Given the description of an element on the screen output the (x, y) to click on. 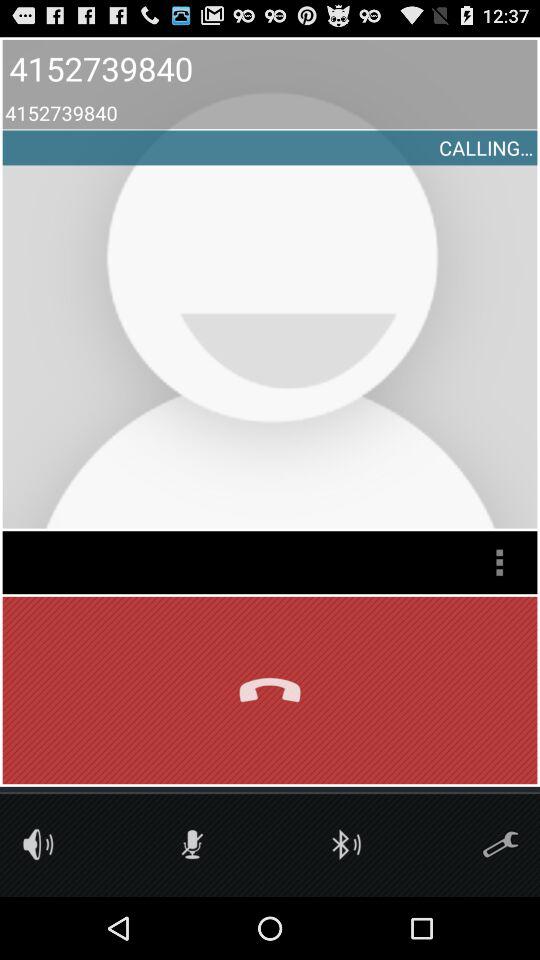
toggle mute (192, 844)
